Given the description of an element on the screen output the (x, y) to click on. 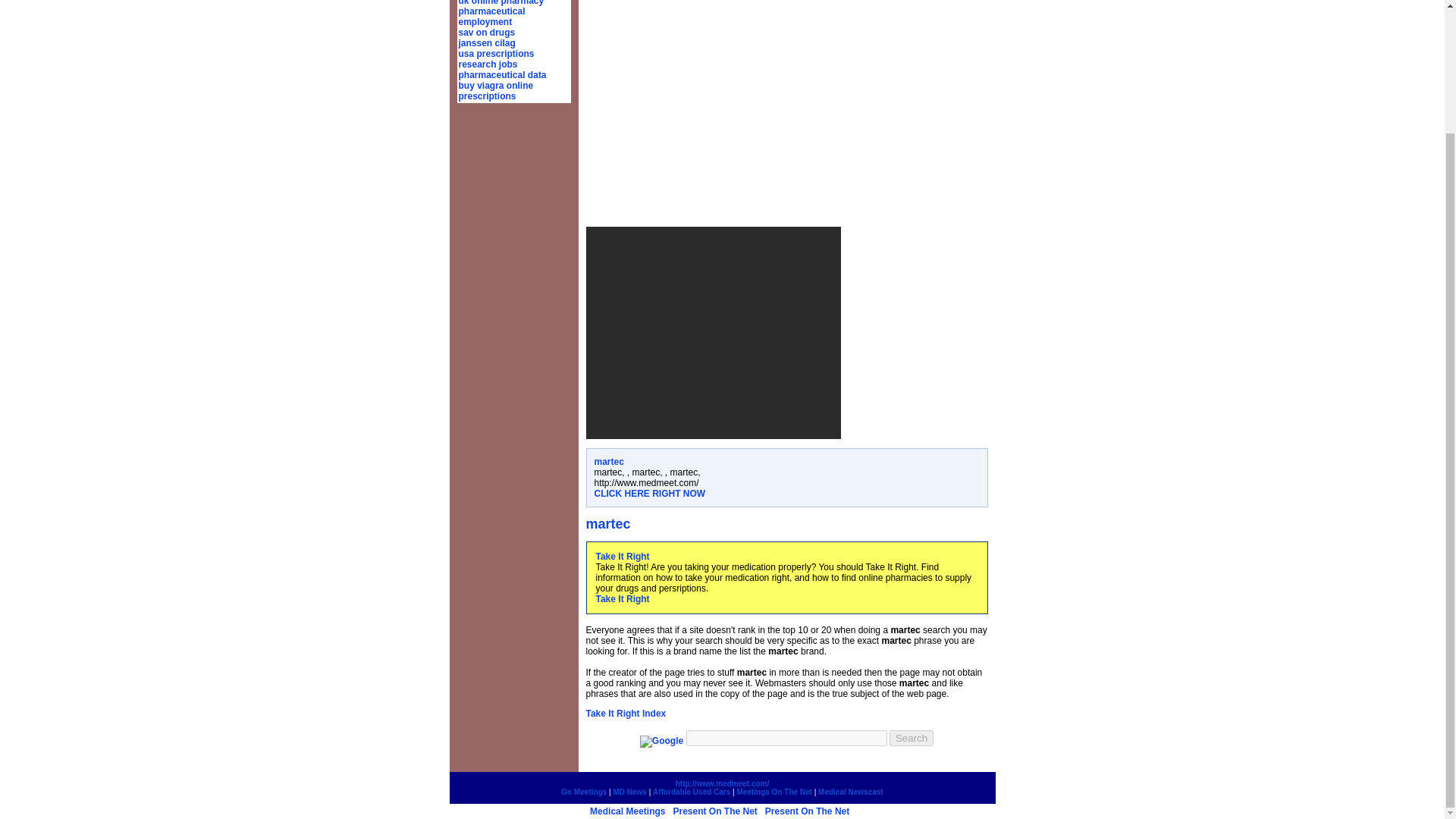
MD News (629, 791)
Go Meetings (583, 791)
pharmaceutical employment (491, 16)
Present On The Net (806, 810)
Medical Newscast (850, 791)
Search (911, 738)
Affordable Used Cars (691, 791)
usa prescriptions (496, 53)
research jobs (487, 63)
Advertisement (712, 332)
